Given the description of an element on the screen output the (x, y) to click on. 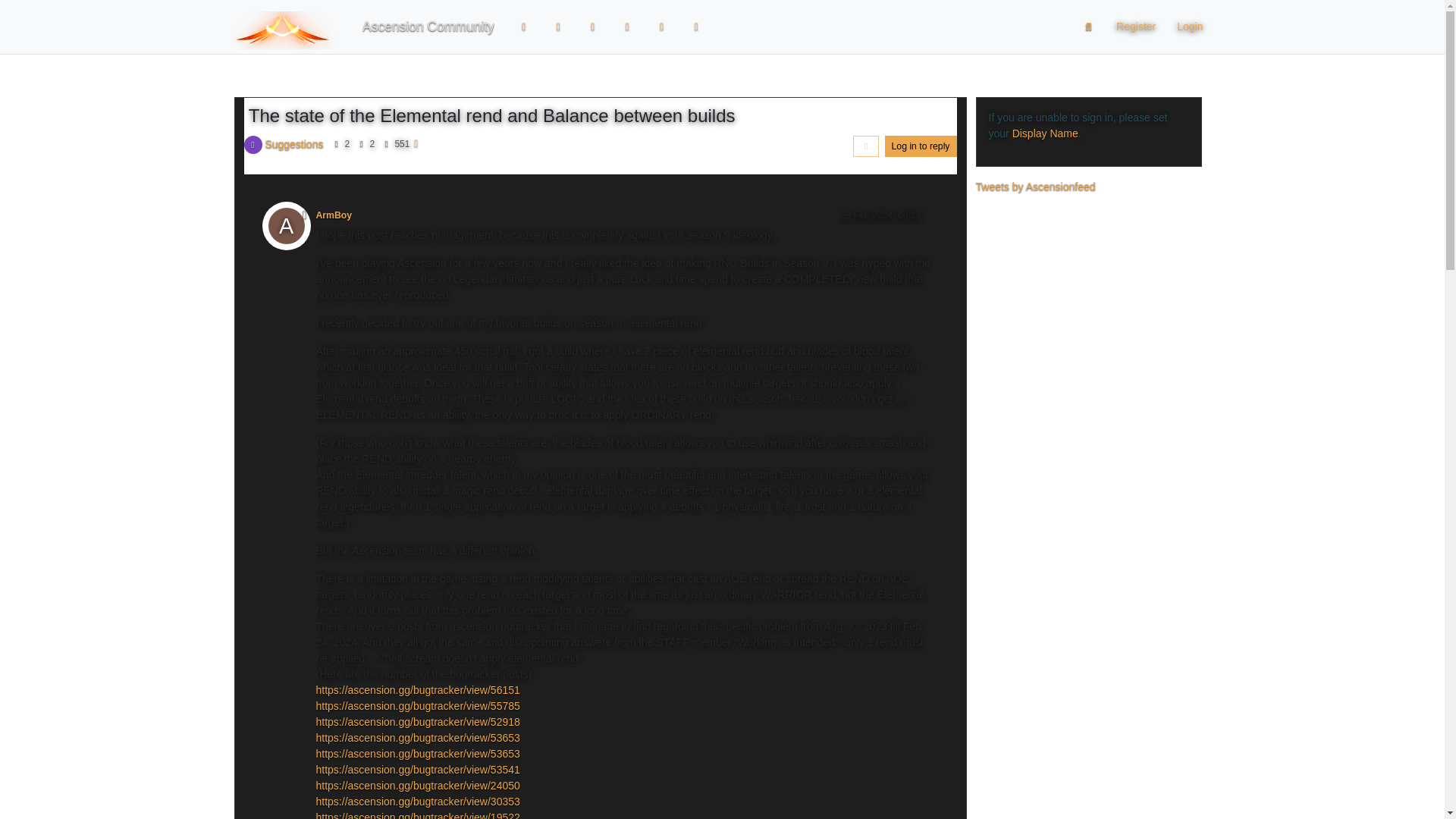
Users (662, 26)
Tags (592, 26)
A (291, 229)
Popular (627, 26)
Ascension Community (428, 26)
Categories (523, 26)
Register (1135, 26)
Recent (558, 26)
29 Feb 2024, 06:13 (880, 214)
ArmBoy (333, 214)
